Given the description of an element on the screen output the (x, y) to click on. 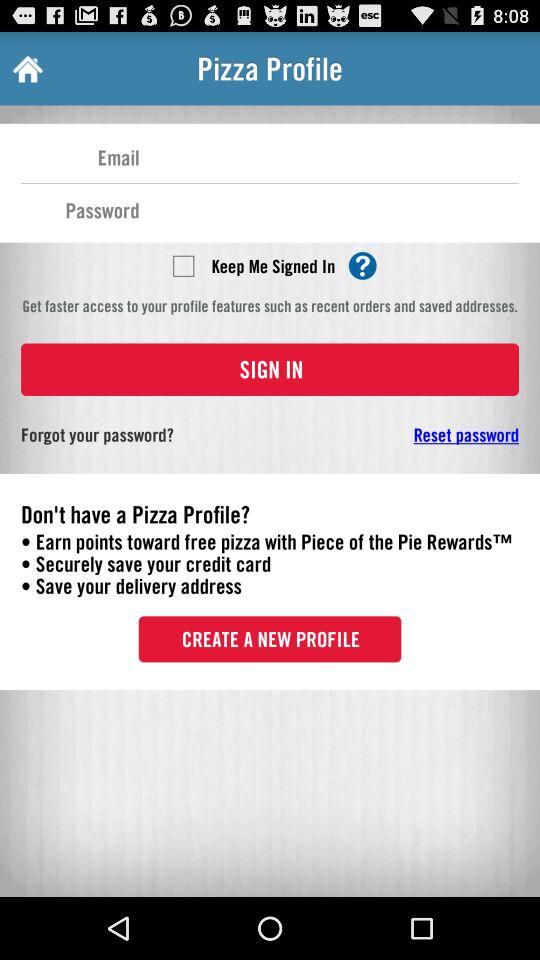
keep user signed in to account (183, 265)
